Given the description of an element on the screen output the (x, y) to click on. 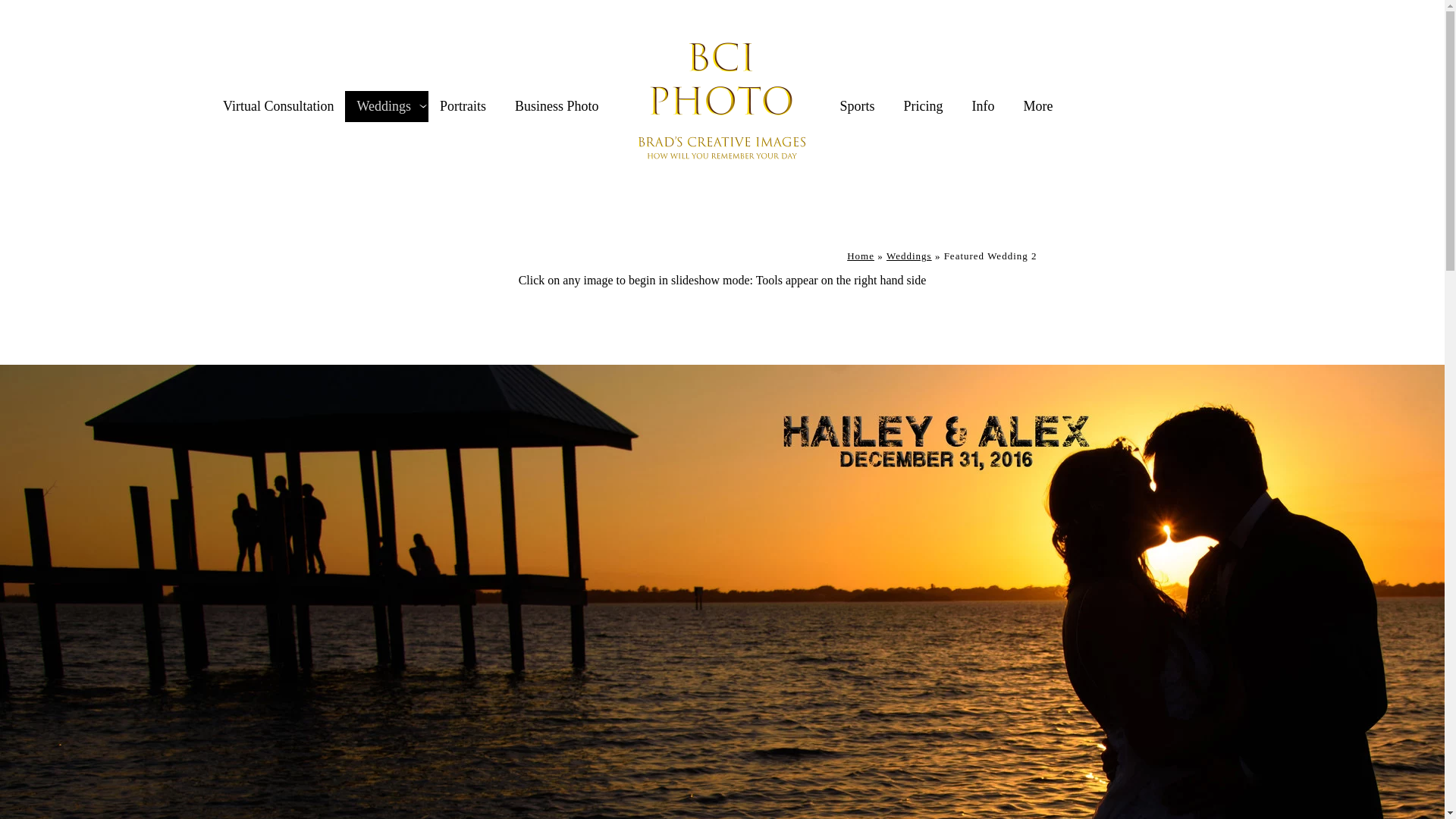
Business Photo (556, 105)
Brad's Creative Images (861, 255)
Portraits (462, 105)
Weddings (908, 255)
Weddings (383, 105)
Pricing (923, 105)
Brad's Creative Images (721, 106)
Sports (857, 105)
Virtual Consultation (277, 105)
More (1037, 105)
